Given the description of an element on the screen output the (x, y) to click on. 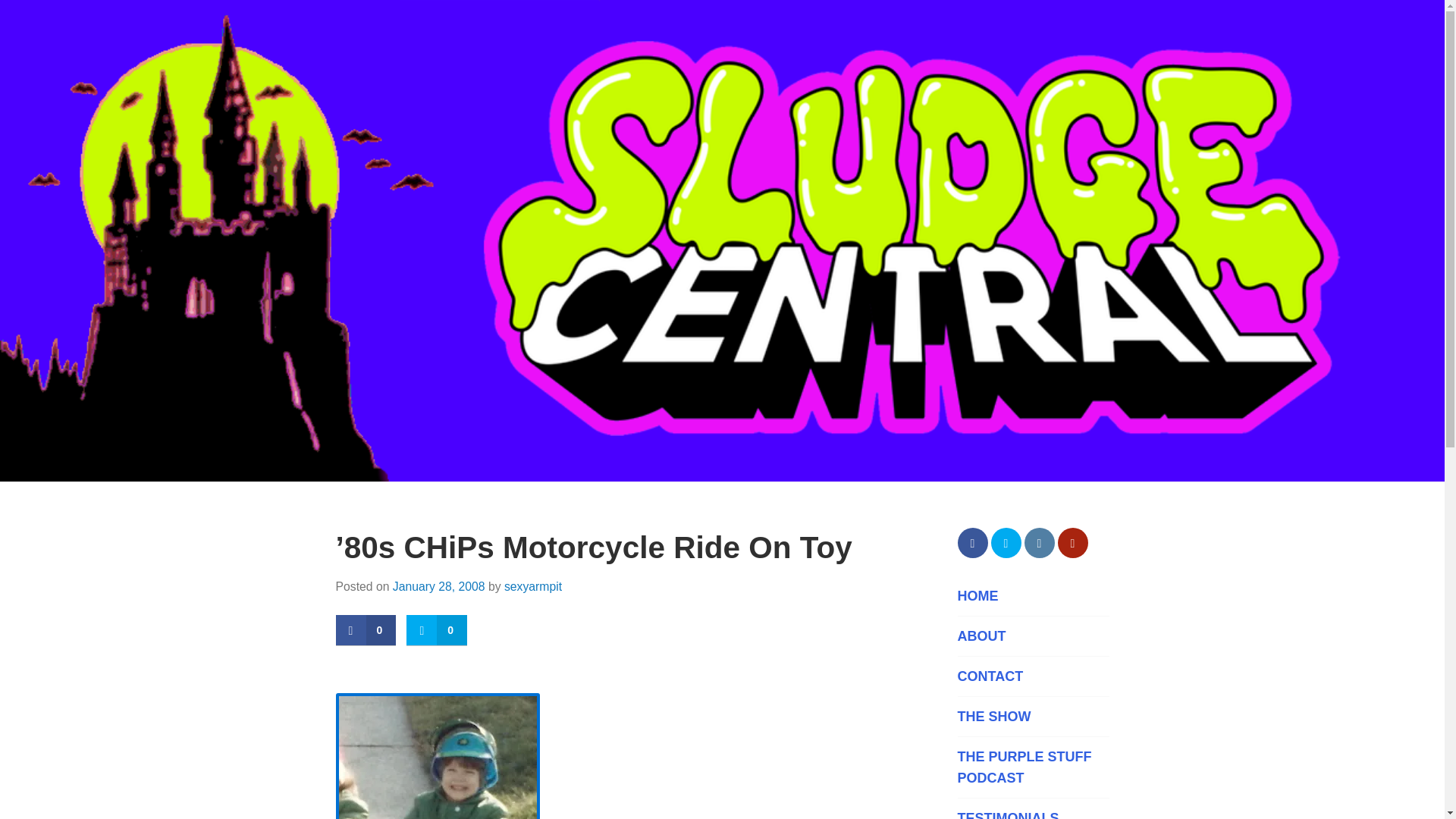
SLUDGE CENTRAL (495, 526)
The Sexy Armpit Show (1032, 716)
sexyarmpit (532, 585)
January 28, 2008 (438, 585)
ABOUT (1032, 636)
0 (436, 630)
CONTACT (1032, 676)
THE PURPLE STUFF PODCAST (1032, 767)
TESTIMONIALS (1032, 813)
HOME (1032, 595)
0 (365, 630)
Search (48, 18)
THE SHOW (1032, 716)
